Given the description of an element on the screen output the (x, y) to click on. 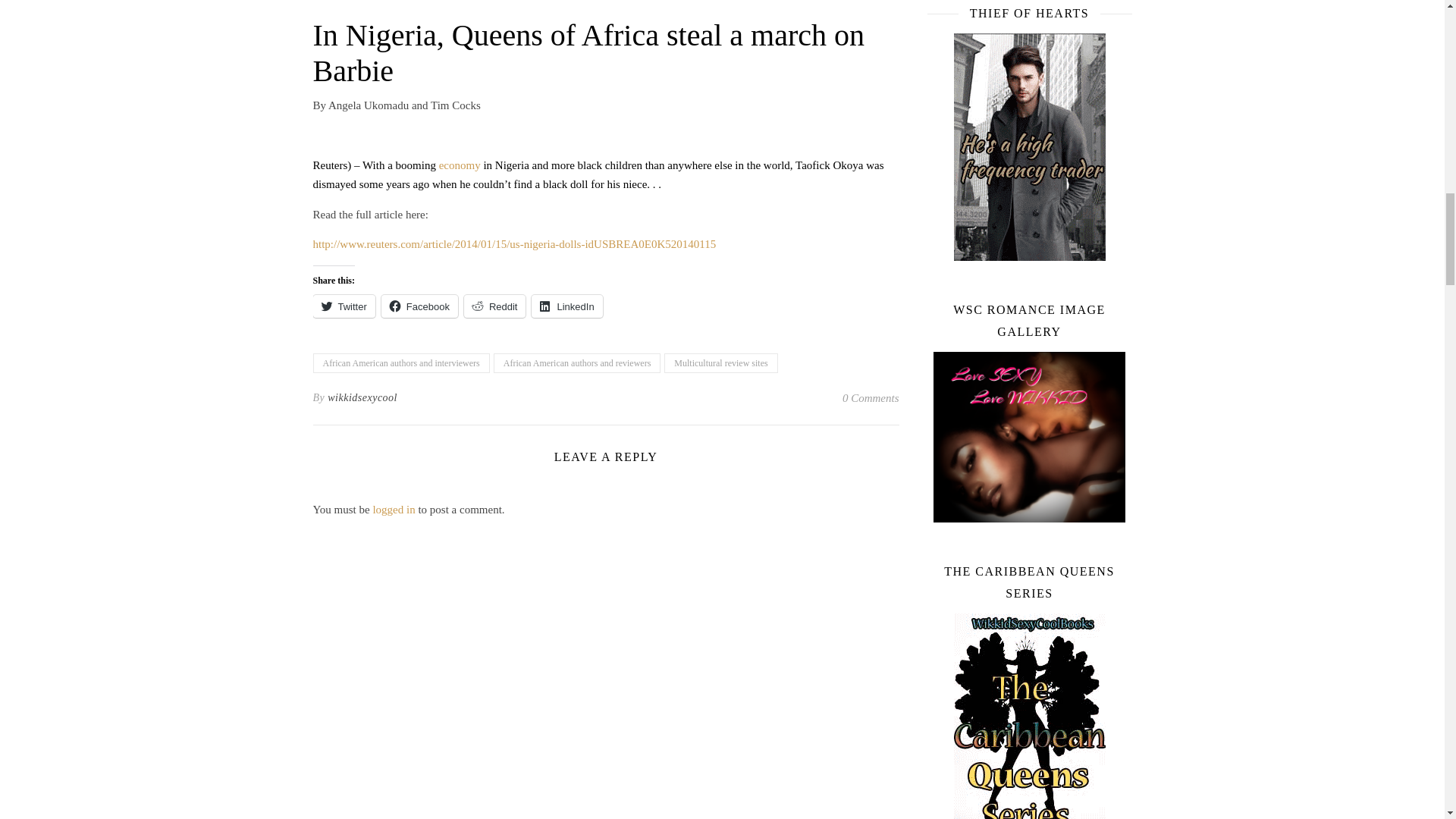
African American authors and interviewers (401, 362)
economy (459, 164)
Click to share on Facebook (419, 305)
African American authors and reviewers (577, 362)
Click to share on LinkedIn (566, 305)
LinkedIn (566, 305)
Posts by wikkidsexycool (362, 397)
Reddit (494, 305)
0 Comments (871, 397)
wikkidsexycool (362, 397)
